Given the description of an element on the screen output the (x, y) to click on. 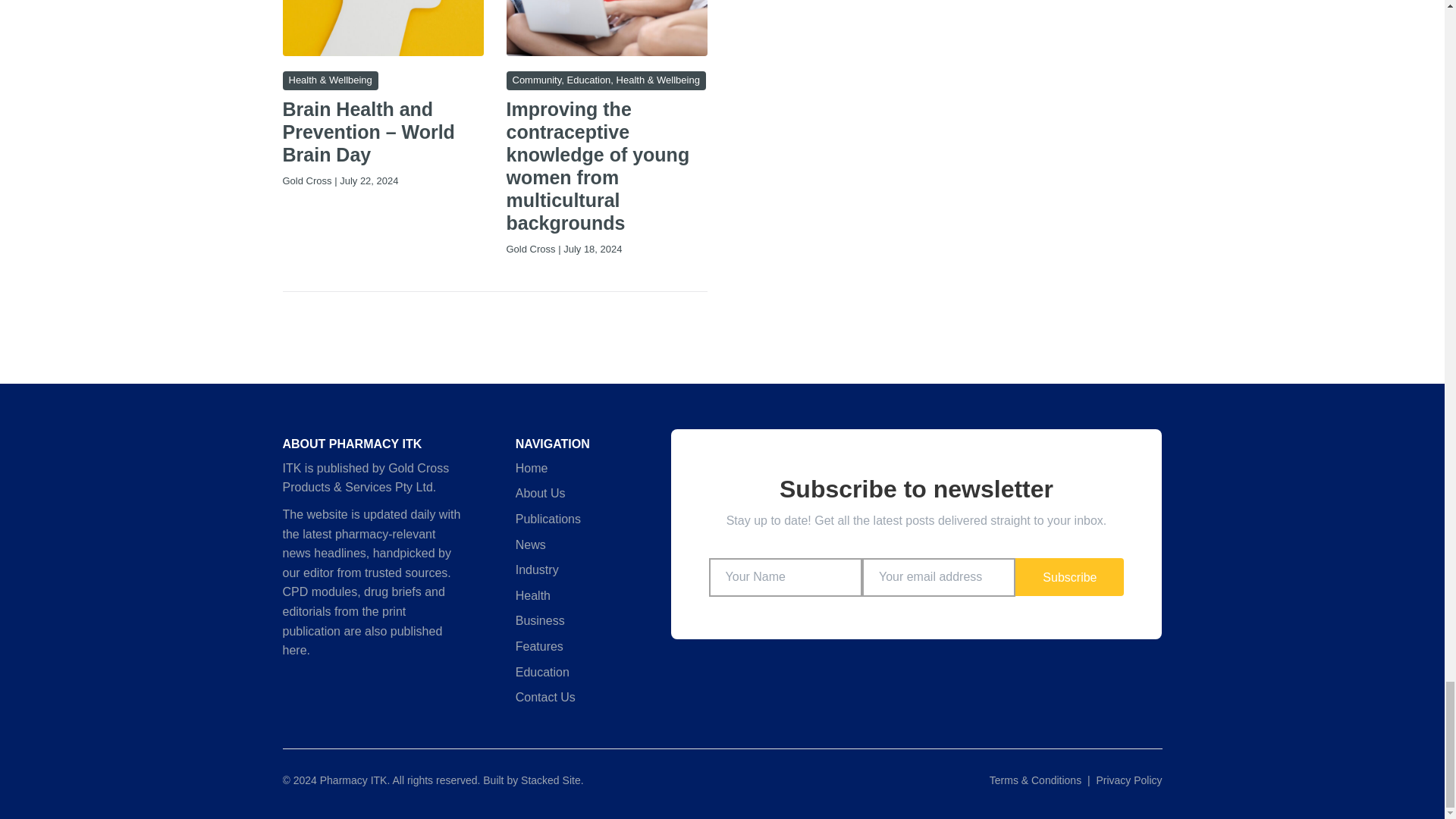
Subscribe (1069, 576)
